Given the description of an element on the screen output the (x, y) to click on. 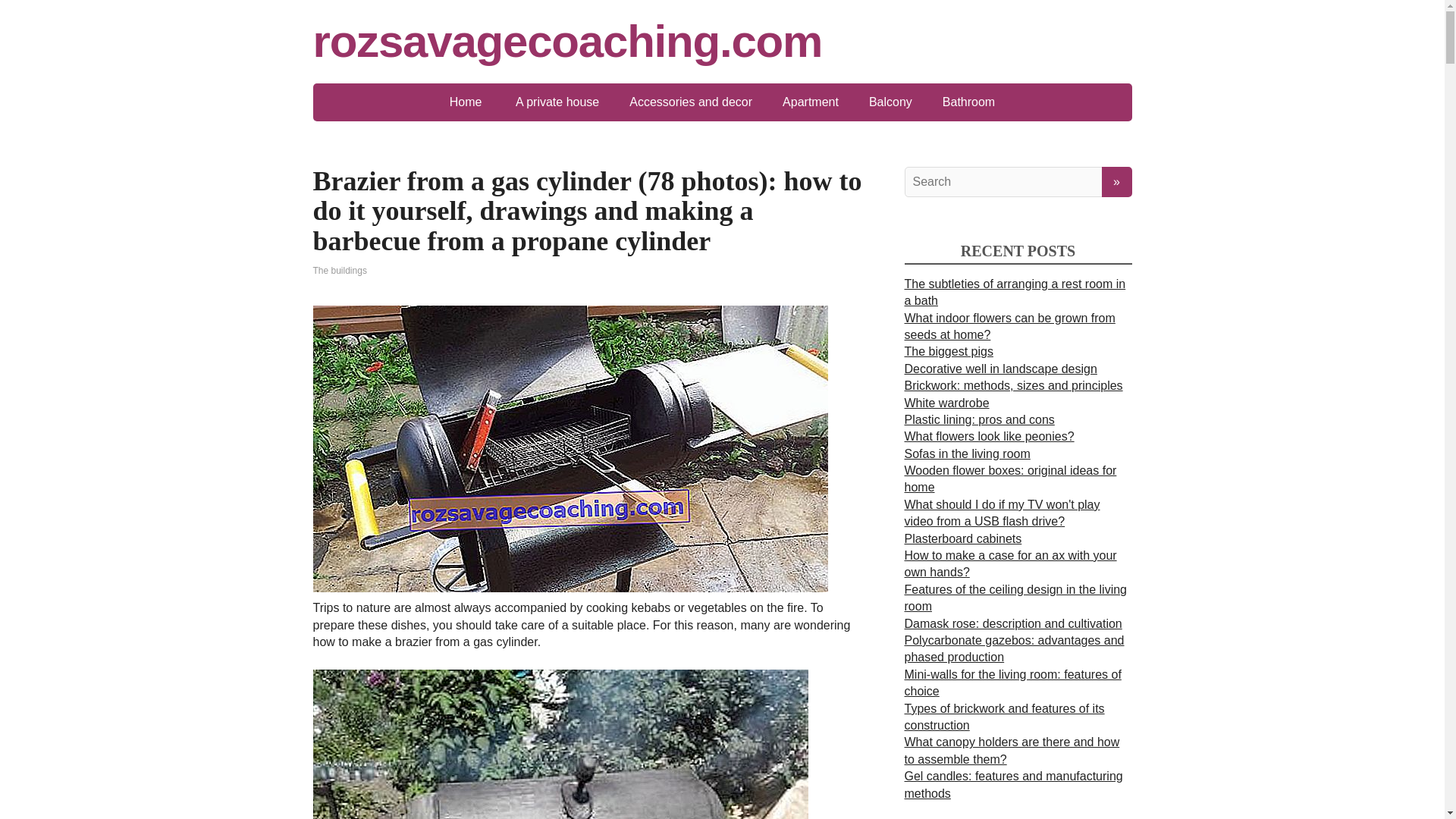
Polycarbonate gazebos: advantages and phased production (1014, 648)
Wooden flower boxes: original ideas for home (1010, 478)
rozsavagecoaching.com (722, 41)
Decorative well in landscape design (1000, 368)
Plastic lining: pros and cons (979, 419)
Accessories and decor (690, 102)
The subtleties of arranging a rest room in a bath (1014, 292)
Features of the ceiling design in the living room (1015, 597)
Home (465, 102)
The buildings (339, 270)
